Given the description of an element on the screen output the (x, y) to click on. 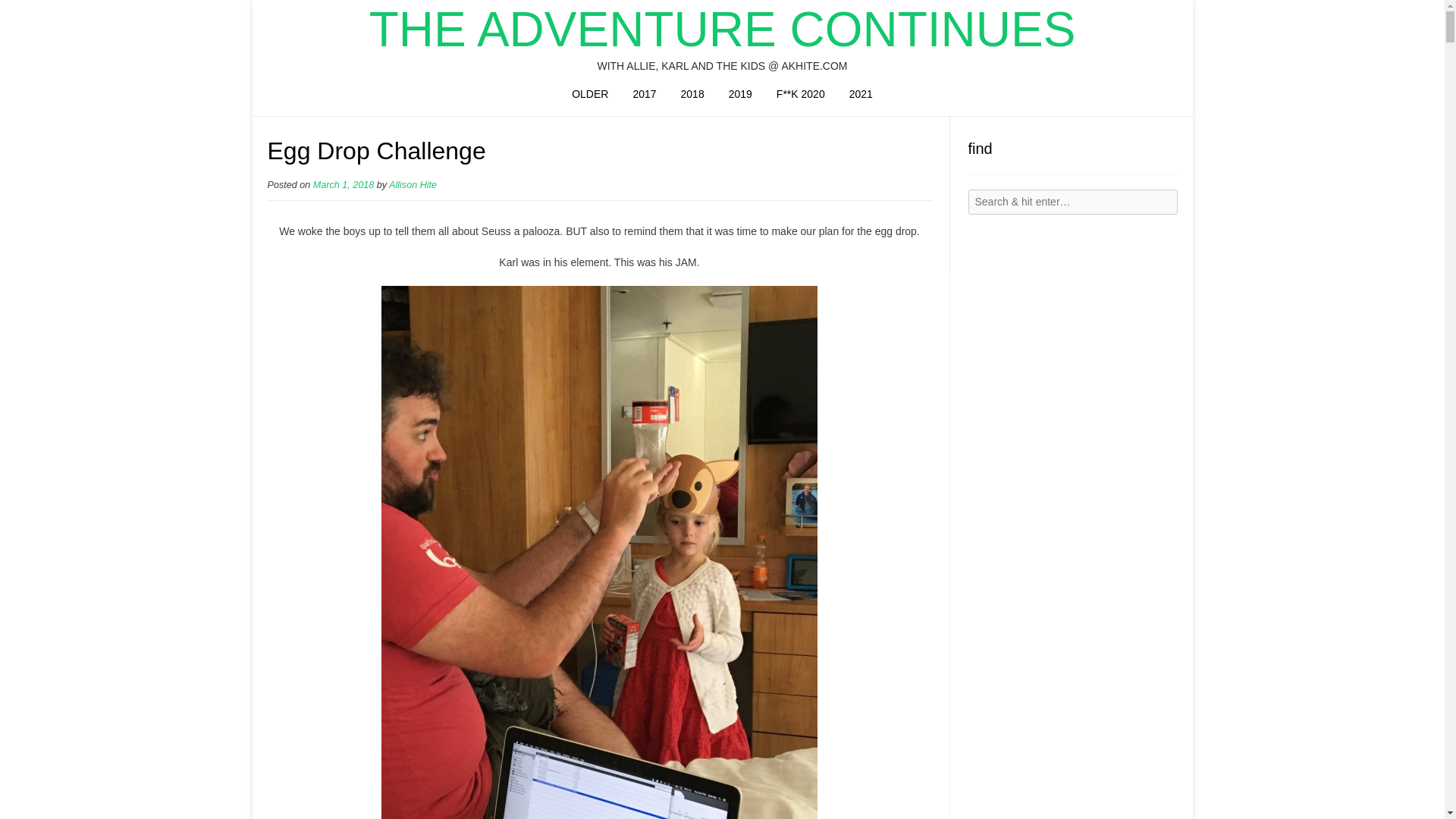
THE ADVENTURE CONTINUES (722, 29)
2018 (692, 96)
2017 (644, 96)
The Adventure Continues (722, 29)
2019 (740, 96)
OLDER (589, 96)
